Given the description of an element on the screen output the (x, y) to click on. 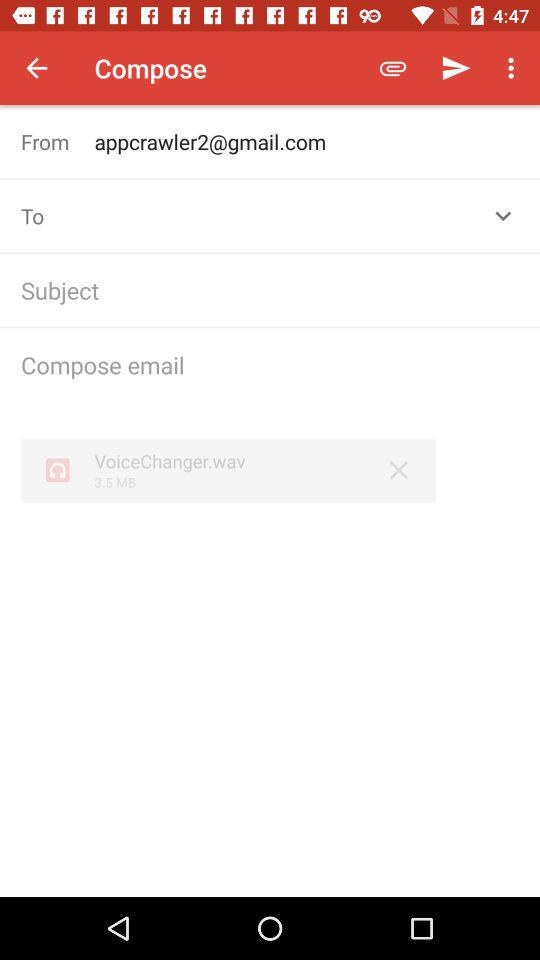
swipe to from item (57, 141)
